Given the description of an element on the screen output the (x, y) to click on. 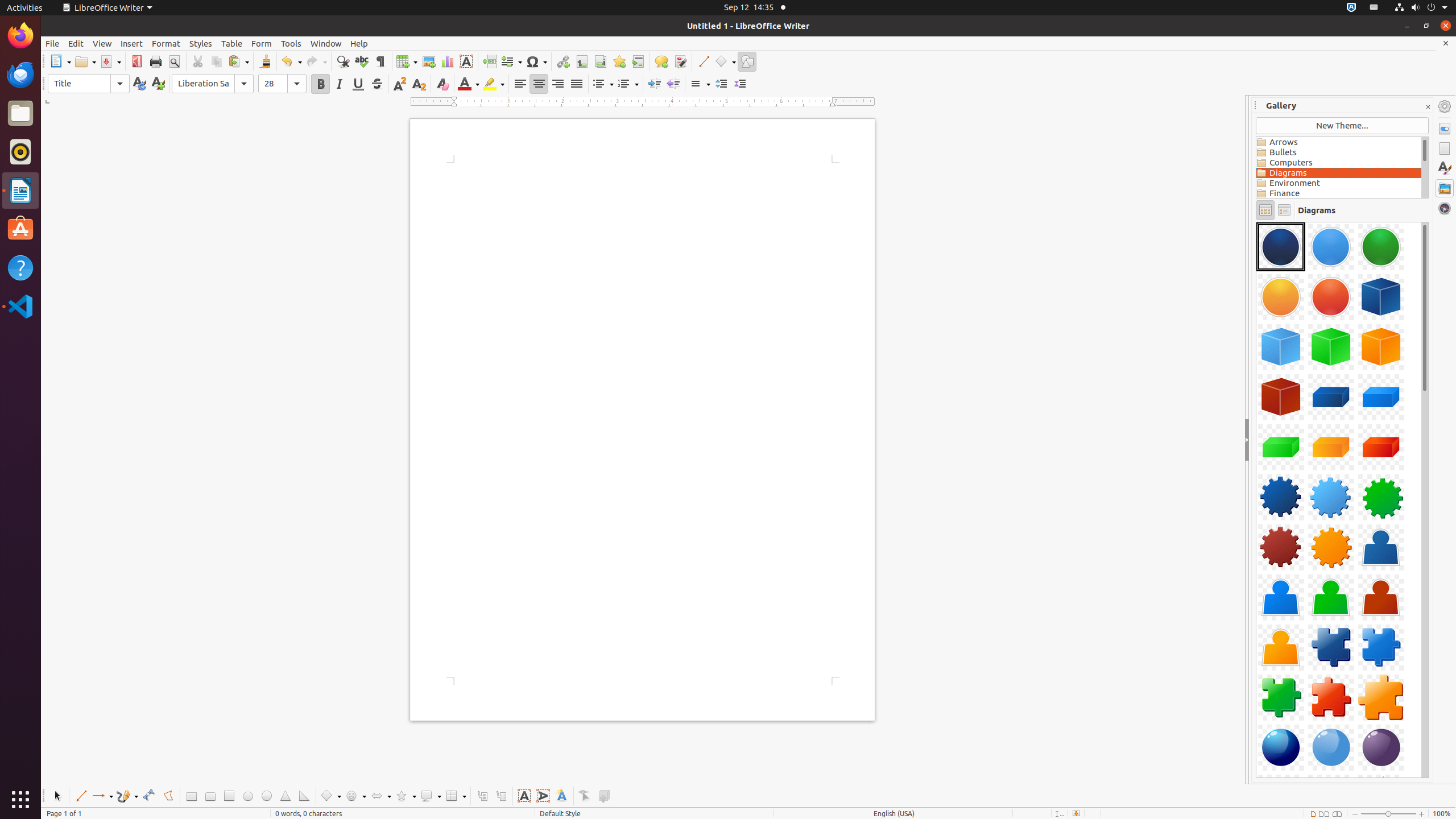
Rhythmbox Element type: push-button (20, 151)
Component-PuzzlePiece01-DarkBlue Element type: list-item (1330, 646)
Component-Cuboid03-Green Element type: list-item (1280, 446)
Center Element type: toggle-button (538, 83)
Track Changes Functions Element type: toggle-button (679, 61)
